Given the description of an element on the screen output the (x, y) to click on. 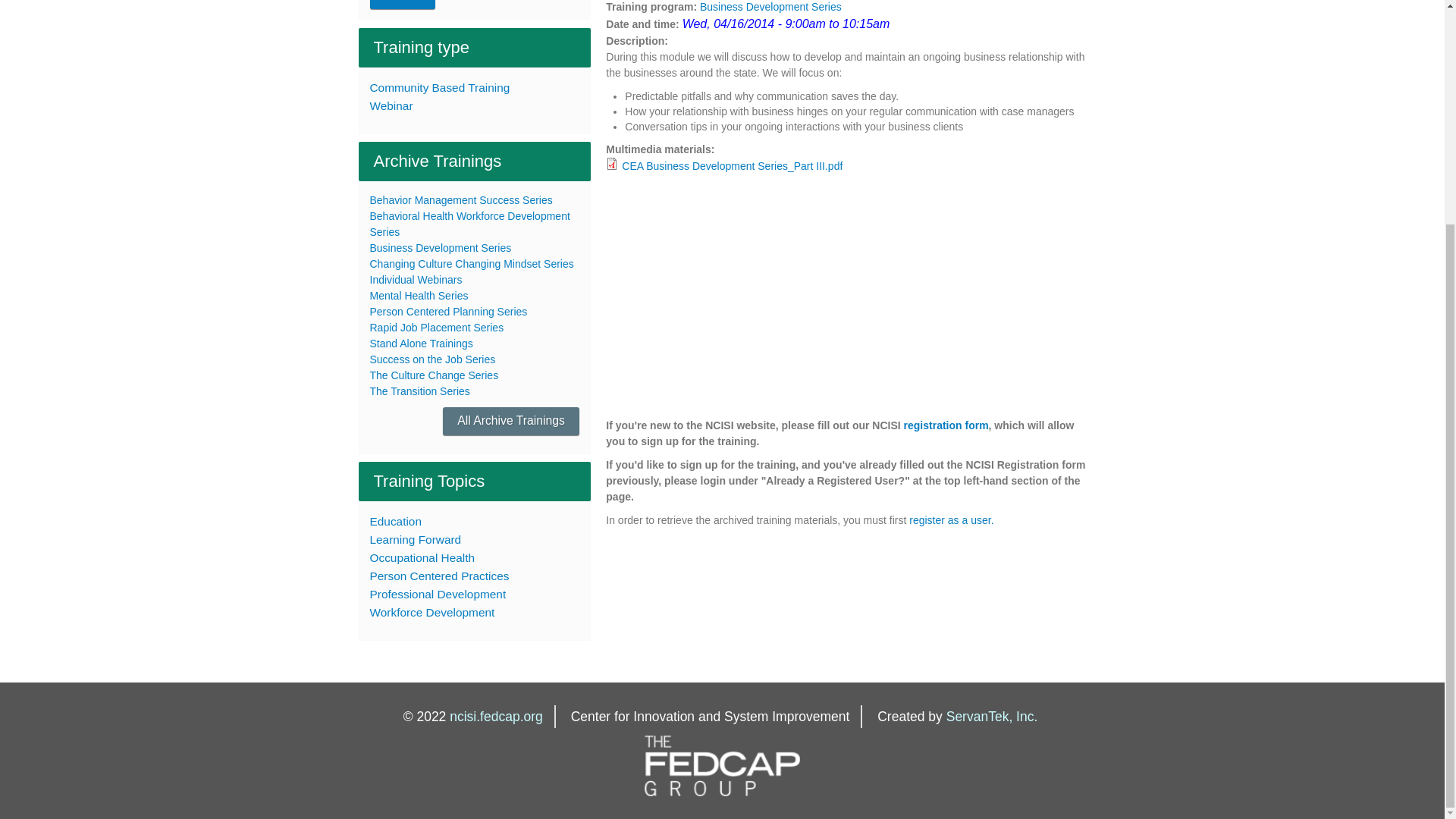
The Transition Series (419, 390)
Rapid Job Placement Series (436, 327)
All Archive Trainings (510, 420)
Professional Development (474, 594)
Submit (402, 4)
Success on the Job Series (432, 358)
Changing Culture Changing Mindset Series (471, 263)
Individual Webinars (416, 279)
Learning Forward (474, 539)
Person Centered Planning Series (448, 311)
Stand Alone Trainings (421, 343)
Mental Health Series (418, 295)
The Culture Change Series (434, 375)
Education (474, 521)
Community Based Training (474, 87)
